Given the description of an element on the screen output the (x, y) to click on. 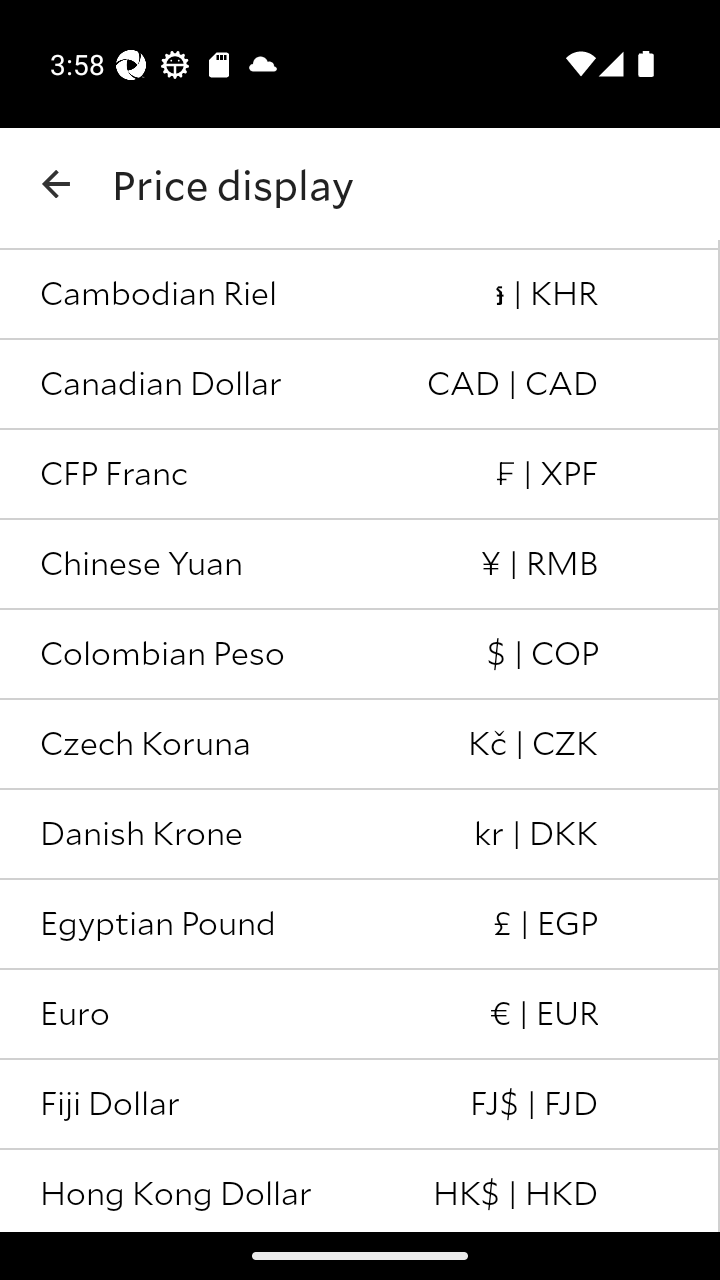
navigation_button (56, 184)
Cambodian Riel ៛ | KHR (360, 294)
Canadian Dollar CAD | CAD (360, 385)
CFP Franc ₣ | XPF (360, 474)
Chinese Yuan ¥ | RMB (360, 564)
Colombian Peso $ | COP (360, 655)
Czech Koruna Kč | CZK (360, 744)
Danish Krone kr | DKK (360, 834)
Egyptian Pound £ | EGP (360, 925)
Euro € | EUR (360, 1014)
Fiji Dollar FJ$ | FJD (360, 1104)
Hong Kong Dollar HK$ | HKD (360, 1190)
